Given the description of an element on the screen output the (x, y) to click on. 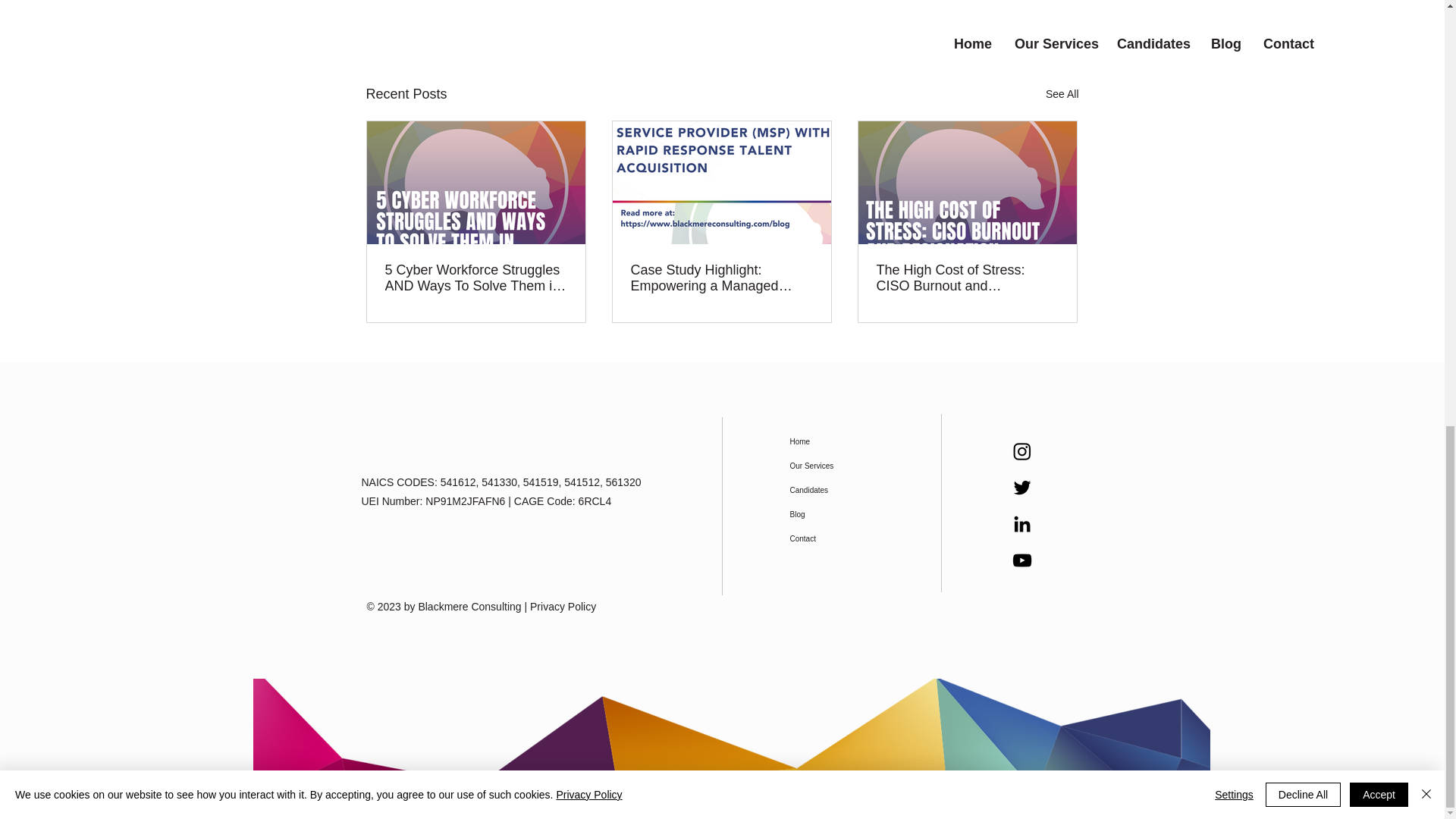
See All (1061, 94)
5 Cyber Workforce Struggles AND Ways To Solve Them in 2024 (476, 278)
The High Cost of Stress: CISO Burnout and Resignation (967, 278)
Privacy Policy (562, 606)
Our Services (828, 466)
Blog (828, 514)
Candidates (828, 490)
Home (828, 441)
Contact (828, 539)
